Given the description of an element on the screen output the (x, y) to click on. 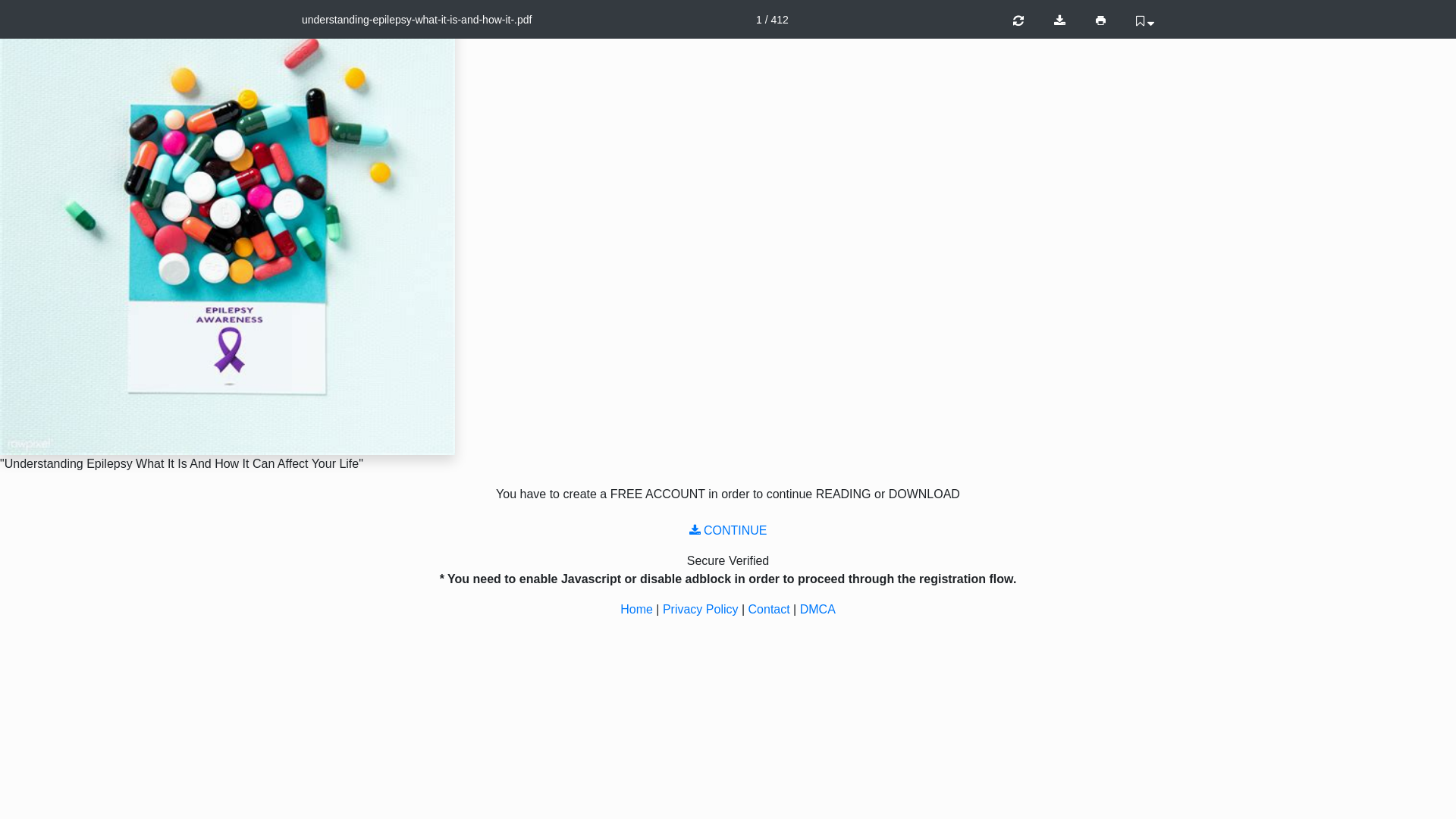
Home Element type: text (636, 608)
Contact Element type: text (769, 608)
Privacy Policy Element type: text (700, 608)
1 / 412 Element type: text (771, 20)
CONTINUE Element type: text (727, 530)
understanding-epilepsy-what-it-is-and-how-it-.pdf Element type: text (416, 20)
DMCA Element type: text (817, 608)
                             Element type: text (1084, 21)
